Given the description of an element on the screen output the (x, y) to click on. 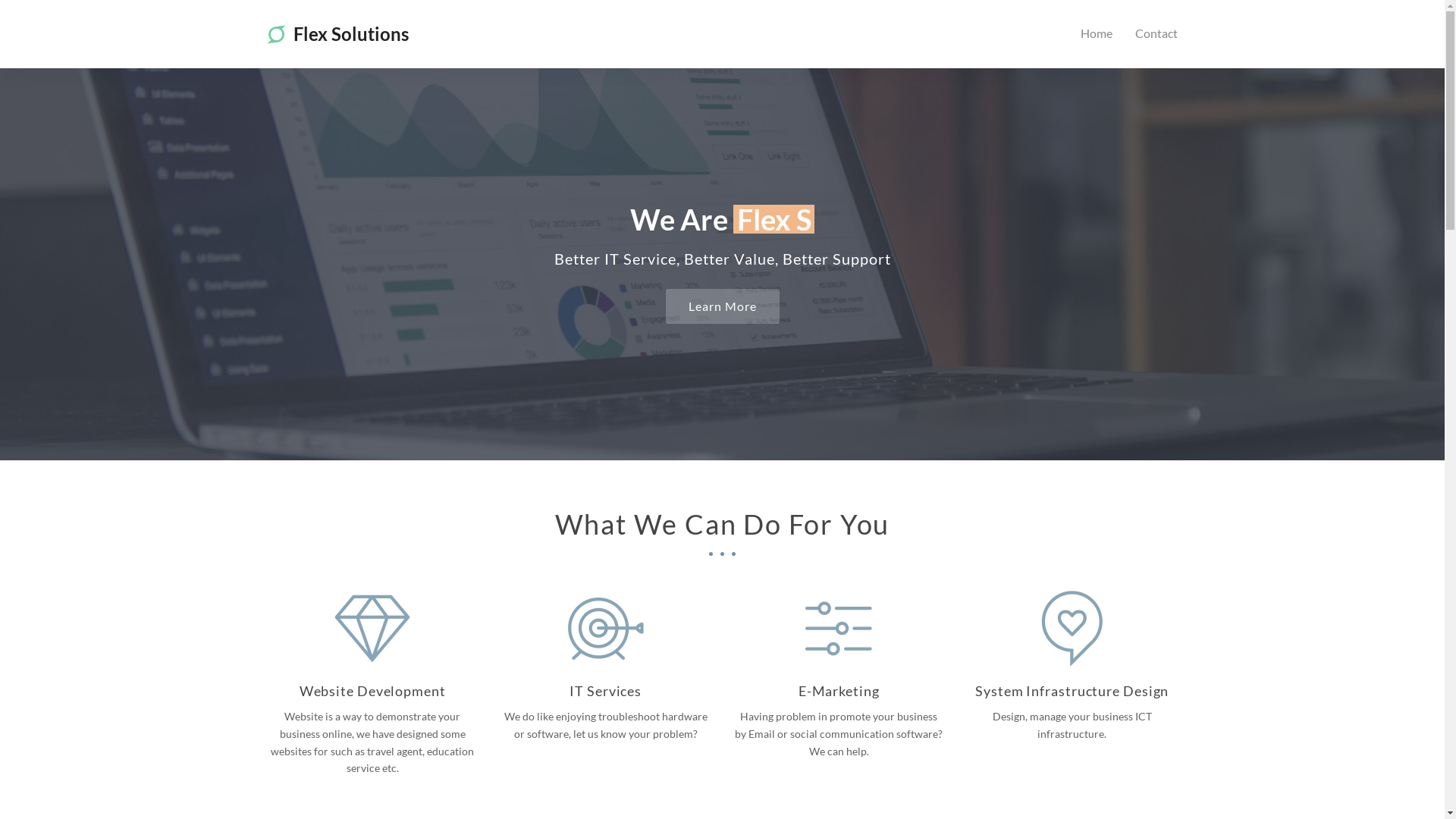
Flex Solutions Element type: text (336, 33)
Home Element type: text (1096, 34)
Learn More Element type: text (722, 305)
Contact Element type: text (1156, 34)
